Given the description of an element on the screen output the (x, y) to click on. 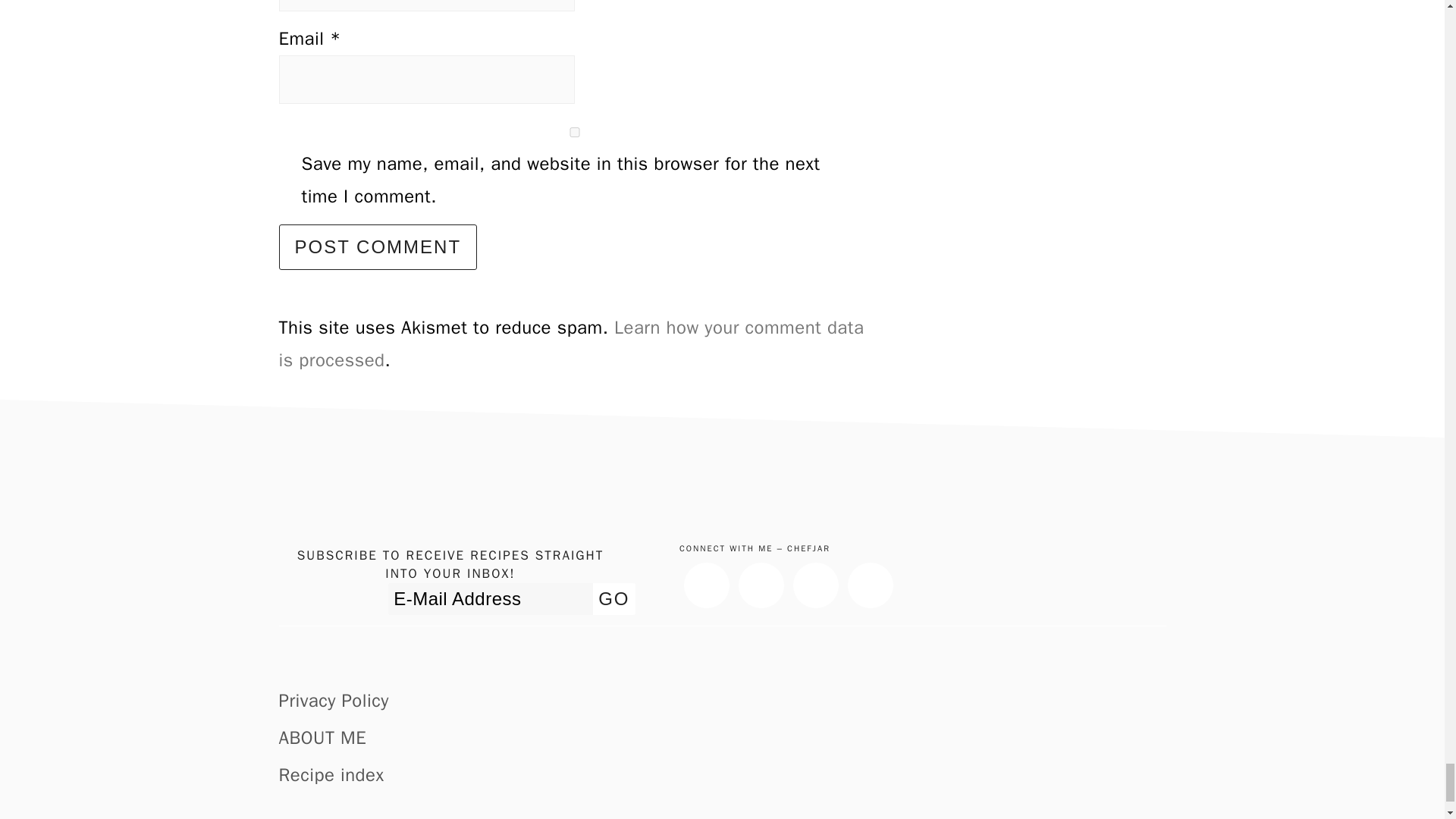
Post Comment (378, 247)
Post Comment (378, 247)
yes (574, 132)
Go (613, 599)
